Given the description of an element on the screen output the (x, y) to click on. 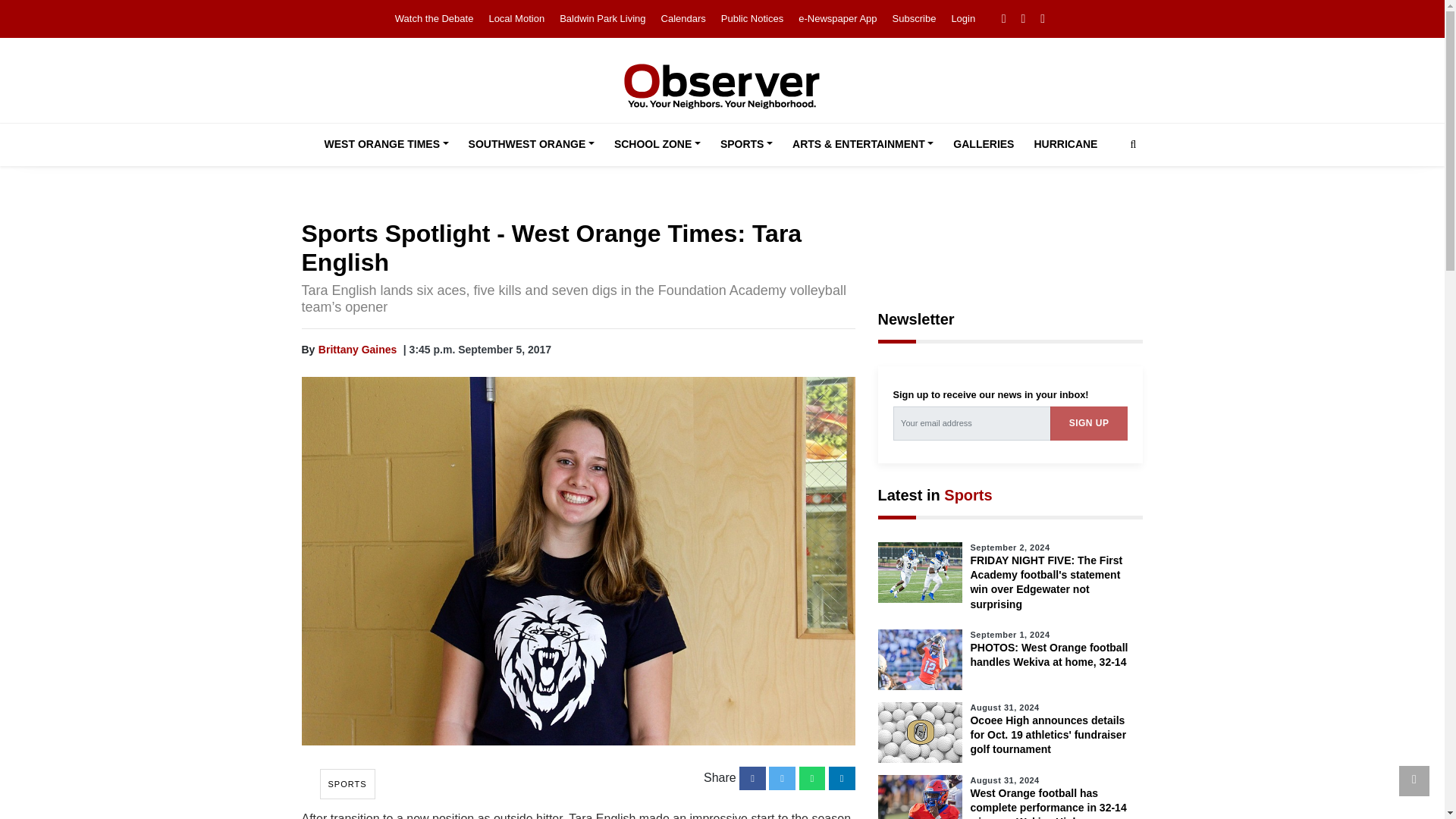
Watch the Debate (434, 18)
WEST ORANGE TIMES (387, 144)
Subscribe (914, 18)
Local Motion (515, 18)
SPORTS (746, 144)
Public Notices (751, 18)
Login (962, 18)
SOUTHWEST ORANGE (531, 144)
SCHOOL ZONE (657, 144)
Baldwin Park Living (602, 18)
